Given the description of an element on the screen output the (x, y) to click on. 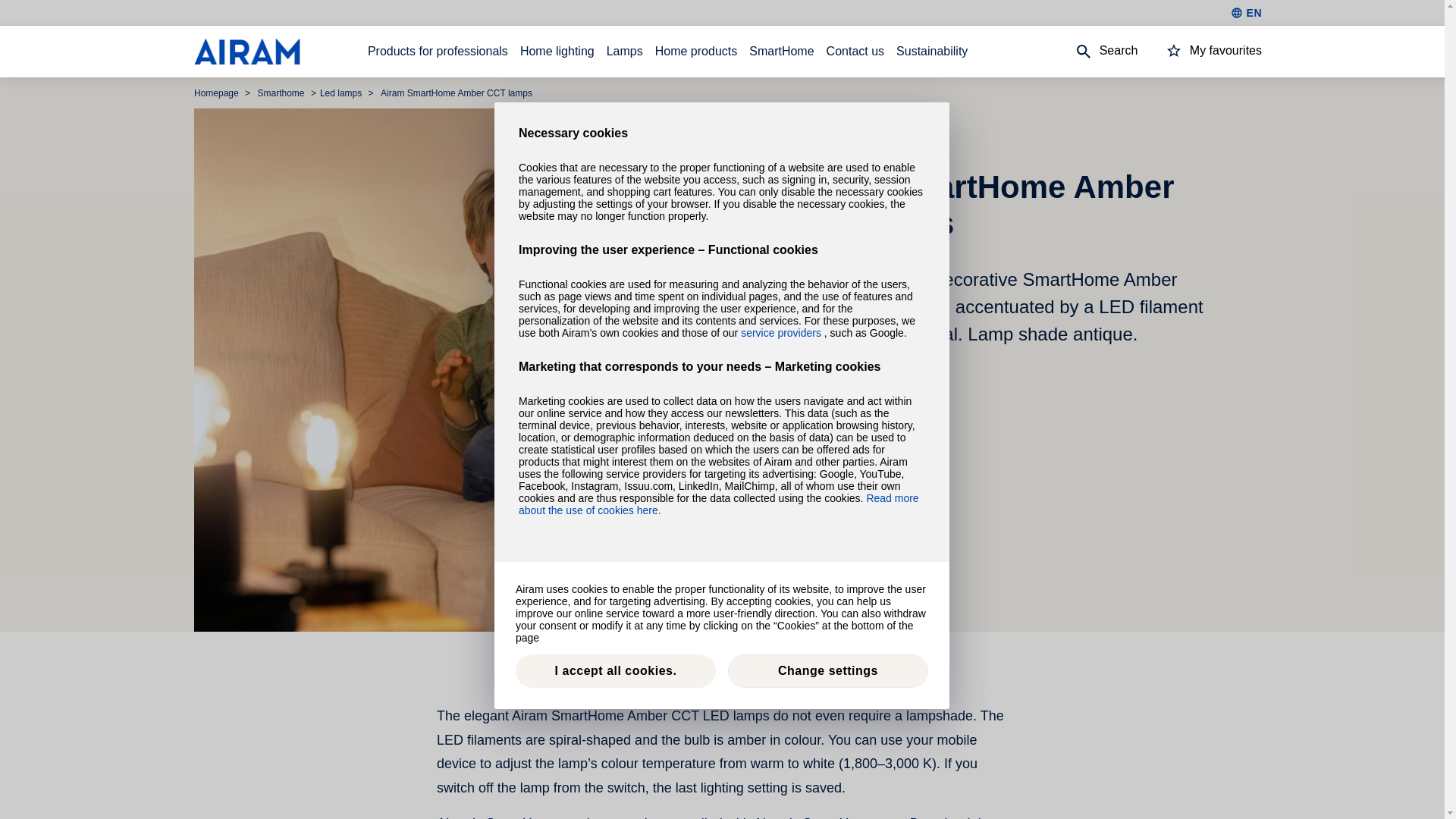
Products for professionals (438, 51)
My favourites (1199, 50)
Search (1091, 51)
Led lamps (342, 92)
Lamps (625, 51)
Smarthome (282, 92)
My favourites (1199, 51)
EN (1246, 12)
Search (1091, 51)
SmartHome (781, 51)
